Given the description of an element on the screen output the (x, y) to click on. 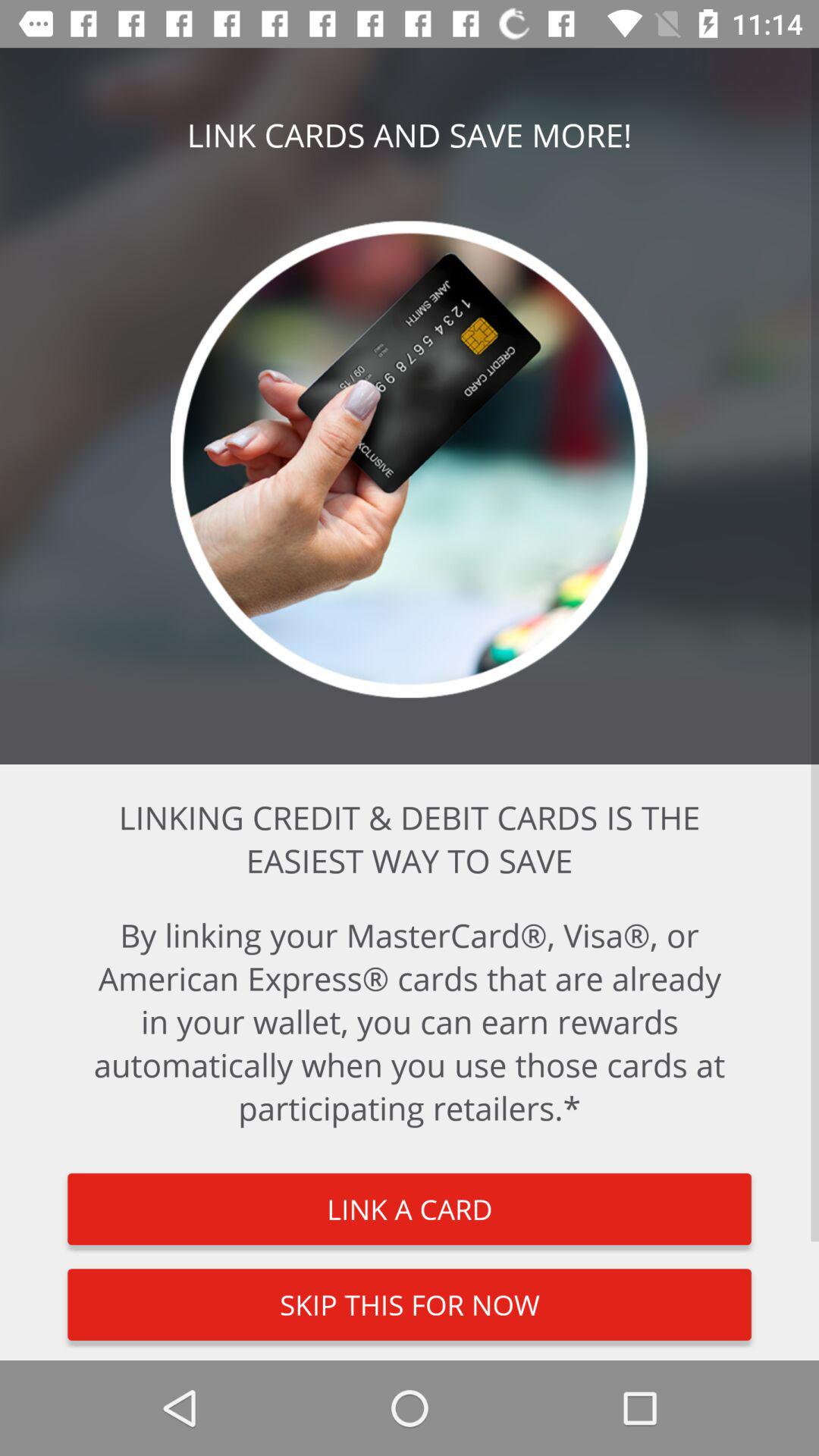
flip to link a card (409, 1208)
